Given the description of an element on the screen output the (x, y) to click on. 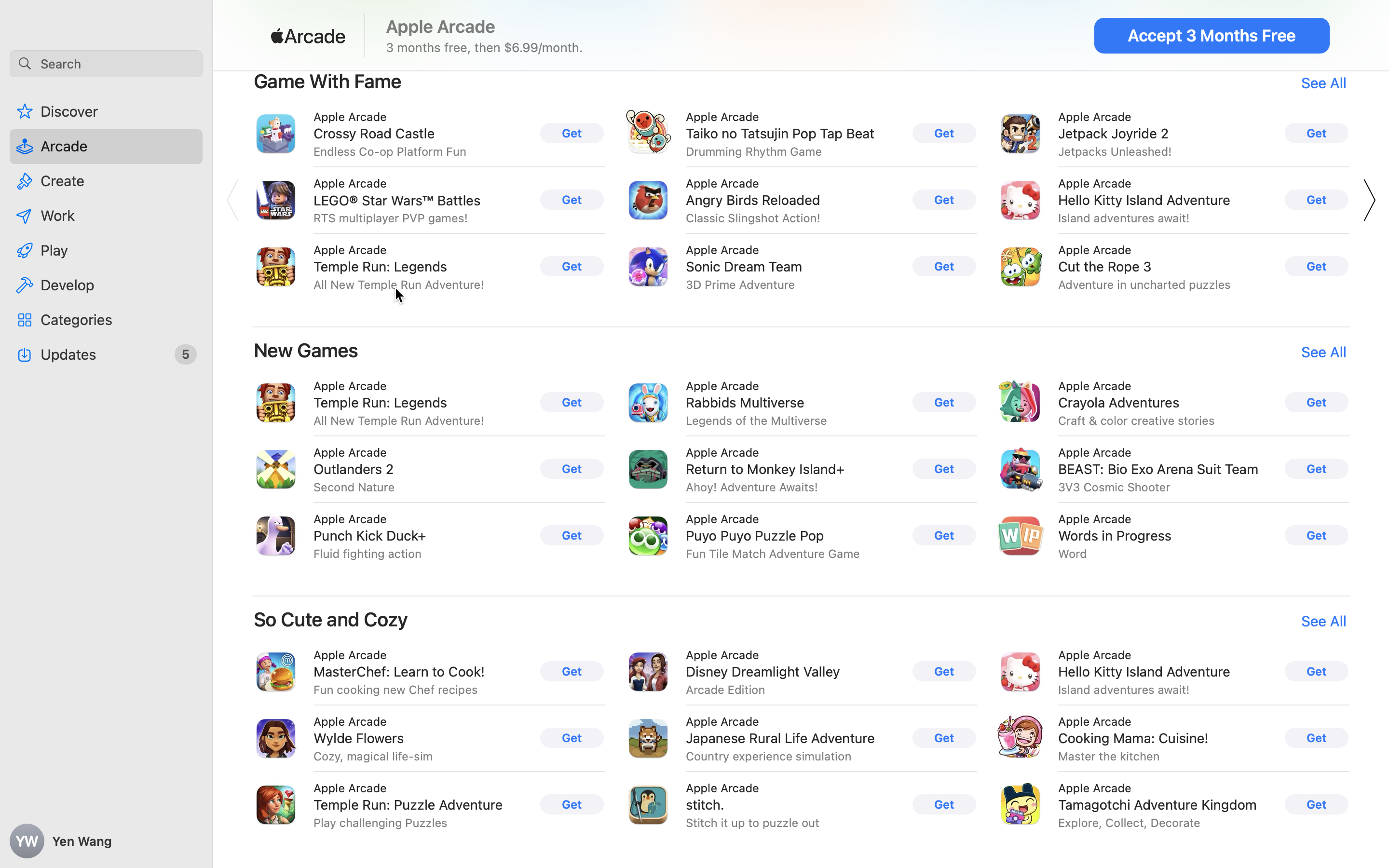
So Cute and Cozy Element type: AXStaticText (330, 618)
New Games Element type: AXStaticText (305, 349)
3 months free, then $6.99/month. Element type: AXStaticText (484, 46)
Apple Arcade Element type: AXStaticText (440, 26)
Game With Fame Element type: AXStaticText (327, 80)
